Given the description of an element on the screen output the (x, y) to click on. 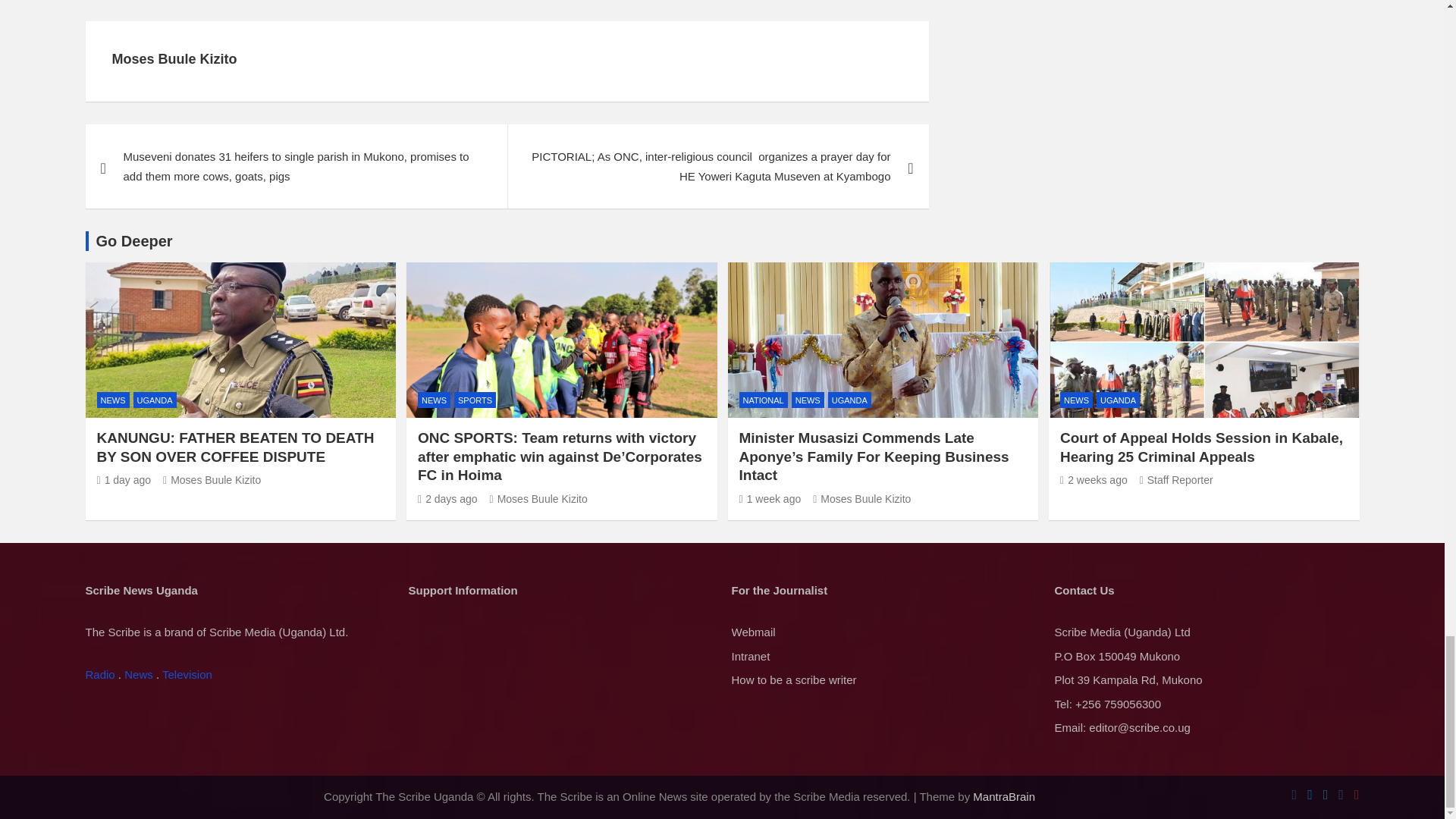
KANUNGU: FATHER BEATEN TO DEATH BY SON OVER COFFEE DISPUTE (124, 480)
